Given the description of an element on the screen output the (x, y) to click on. 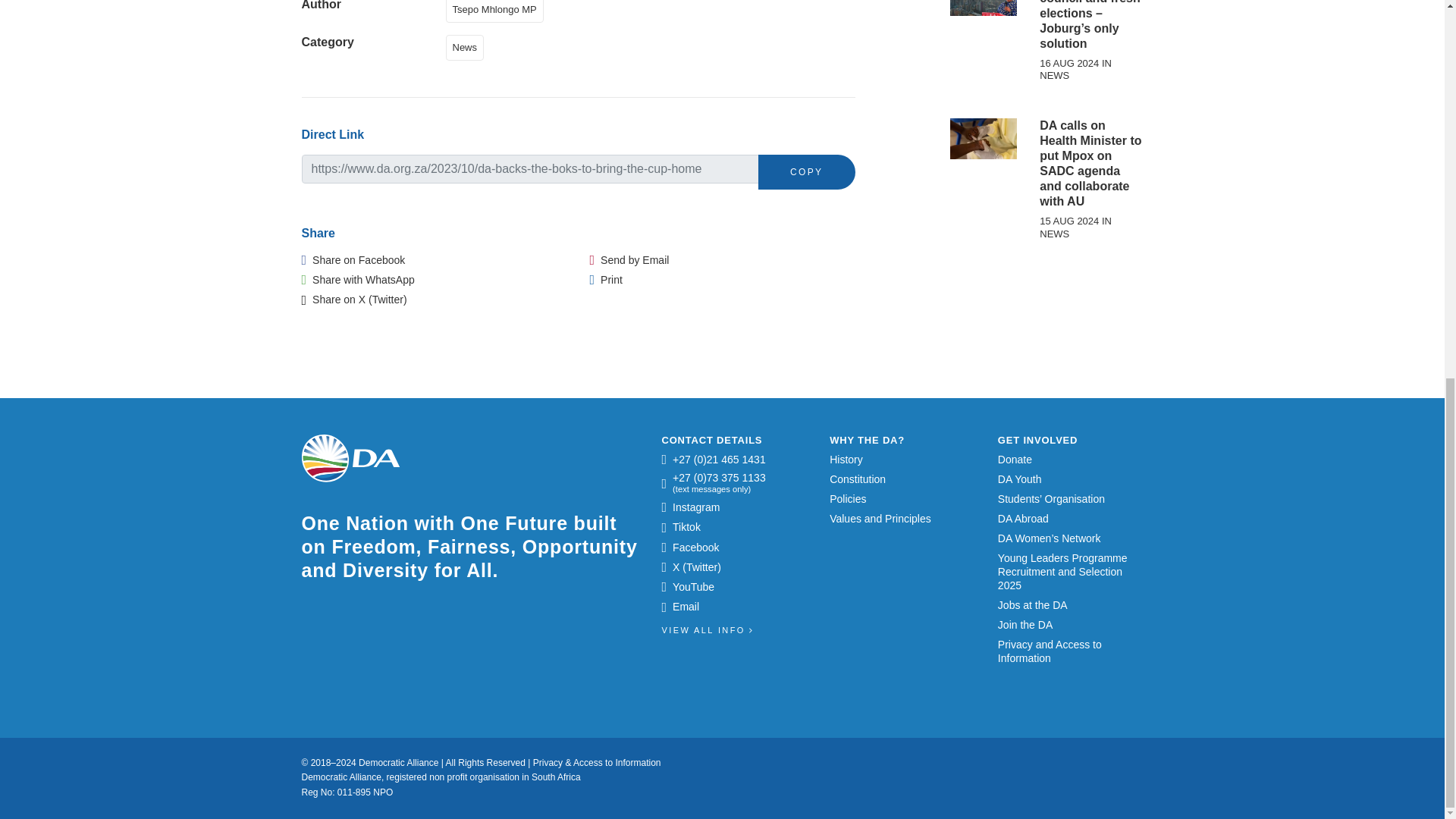
Democratic Alliance Logo (350, 457)
News (467, 46)
Share with WhatsApp (357, 279)
COPY (807, 171)
Share on Facebook (353, 259)
